Given the description of an element on the screen output the (x, y) to click on. 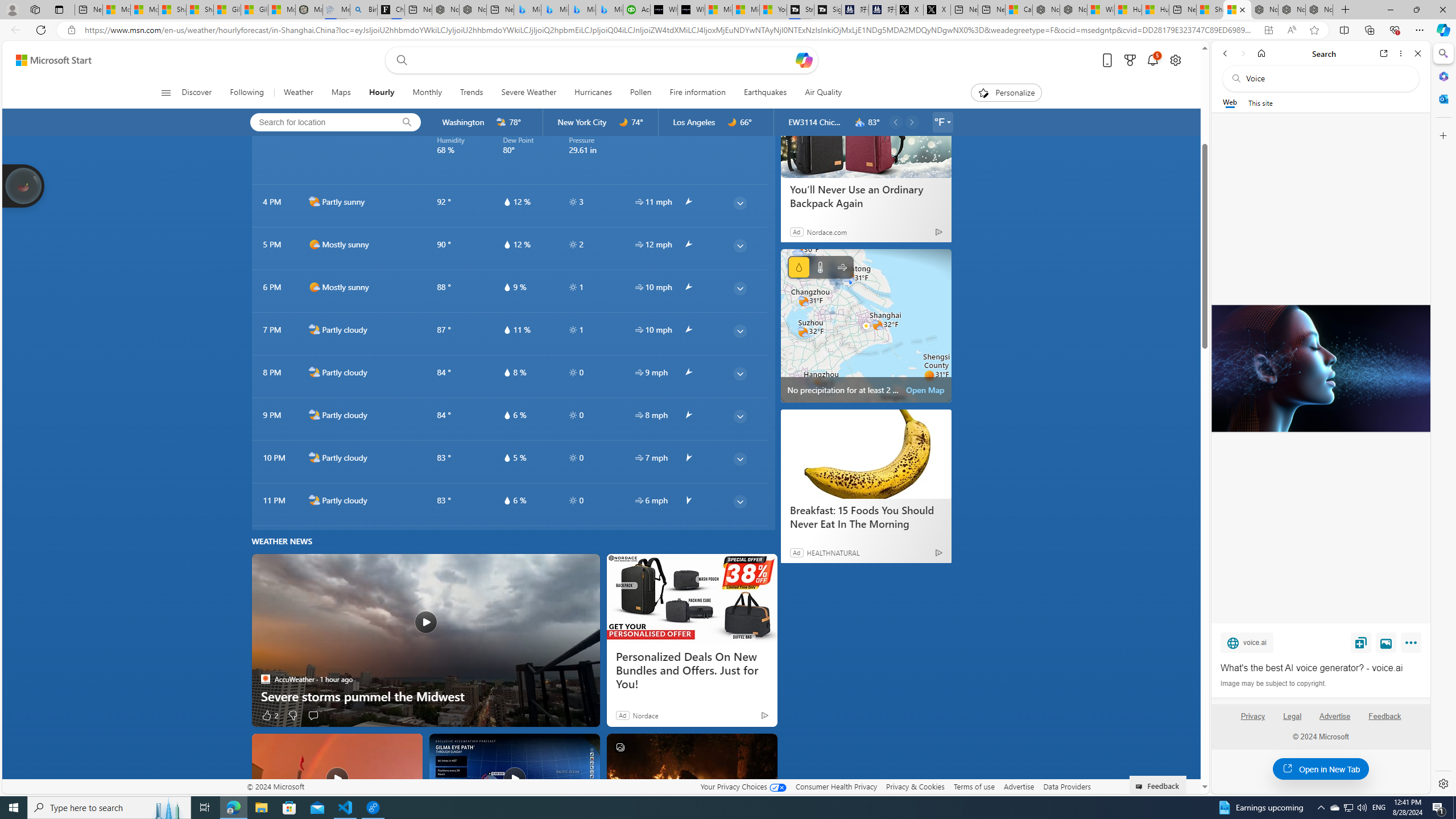
Nordace.com (826, 231)
Search the web (1326, 78)
Data Providers (1066, 785)
Pollen (640, 92)
Precipitation (798, 267)
Maps (340, 92)
common/carouselChevron (911, 122)
